Given the description of an element on the screen output the (x, y) to click on. 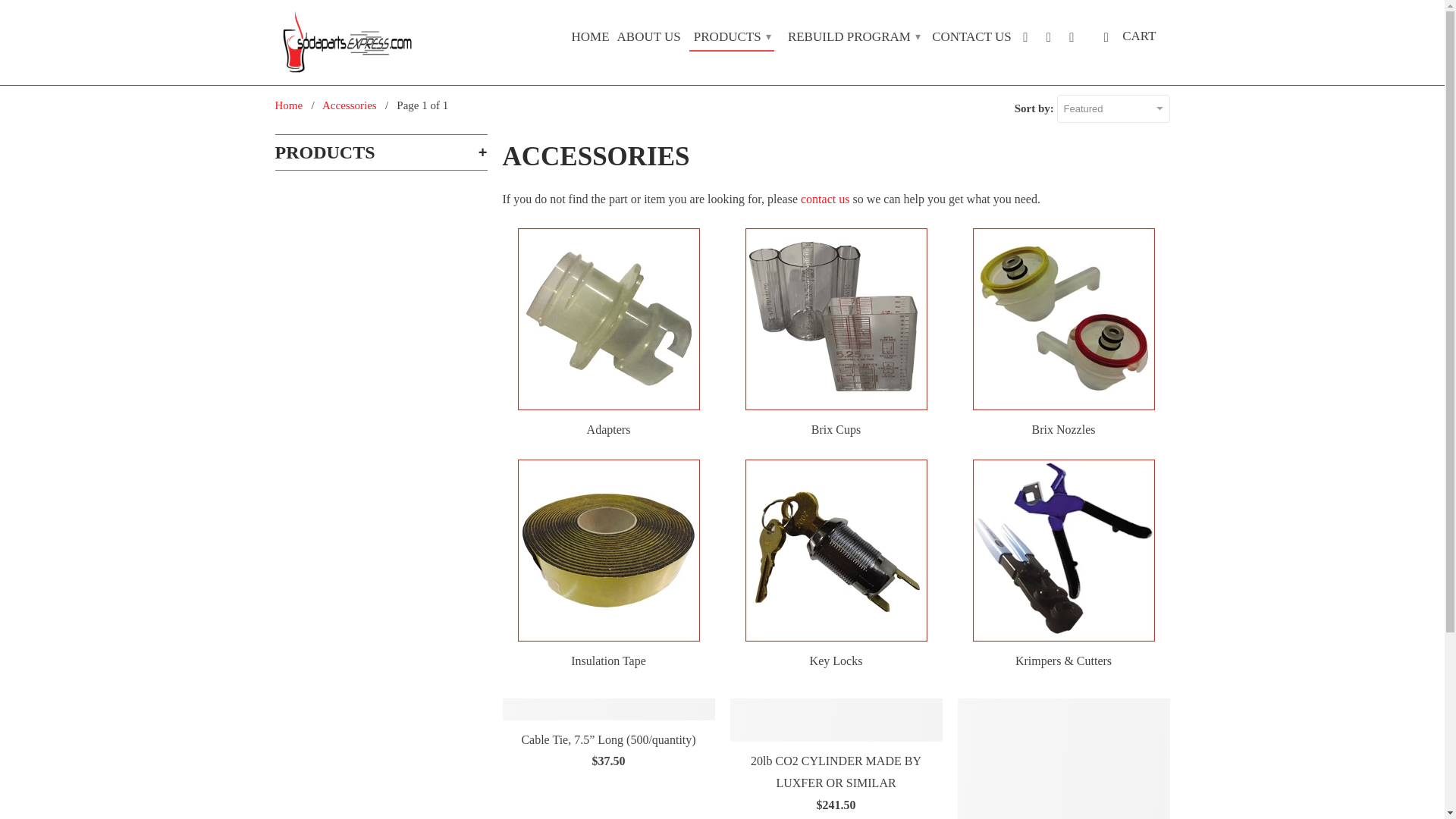
sodapartsexpress.com (347, 42)
sodapartsexpress.com (288, 105)
Search (1073, 39)
My Account  (1050, 39)
Email sodapartsexpress.com (1027, 39)
ABOUT US (649, 39)
HOME (591, 39)
Accessories (349, 105)
